Given the description of an element on the screen output the (x, y) to click on. 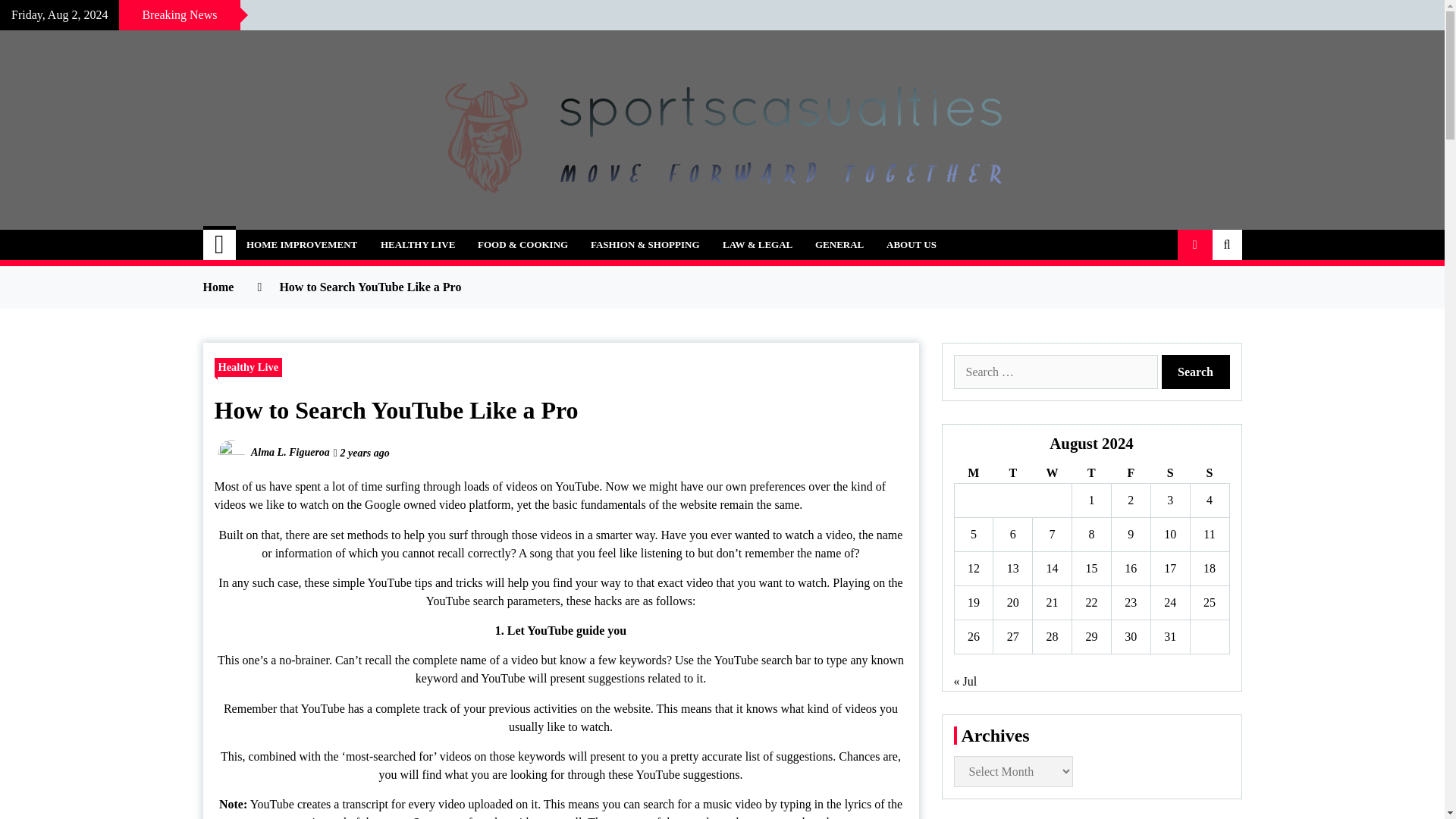
GENERAL (839, 245)
Tuesday (1012, 473)
HOME IMPROVEMENT (301, 245)
Sunday (1208, 473)
Wednesday (1051, 473)
Friday (1130, 473)
Home (219, 245)
HEALTHY LIVE (417, 245)
Thursday (1091, 473)
Search (1195, 371)
